Given the description of an element on the screen output the (x, y) to click on. 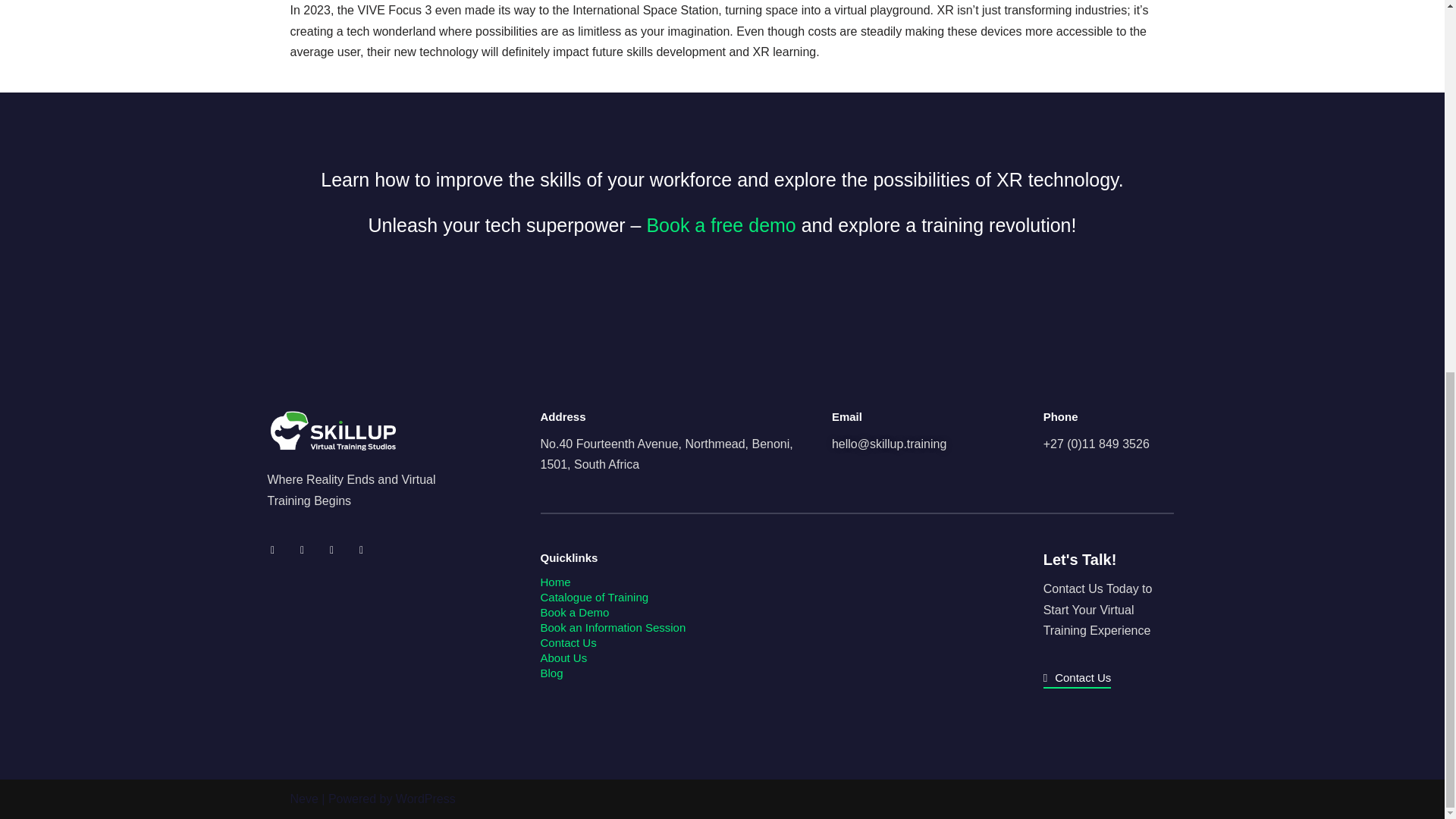
Home (555, 581)
About Us (563, 657)
Book a free demo (720, 224)
Contact Us (1077, 679)
Catalogue of Training (593, 596)
Book an Information Session (612, 626)
WordPress (425, 798)
Book a Demo (574, 612)
Neve (303, 798)
Blog (551, 672)
Contact Us (567, 642)
